Given the description of an element on the screen output the (x, y) to click on. 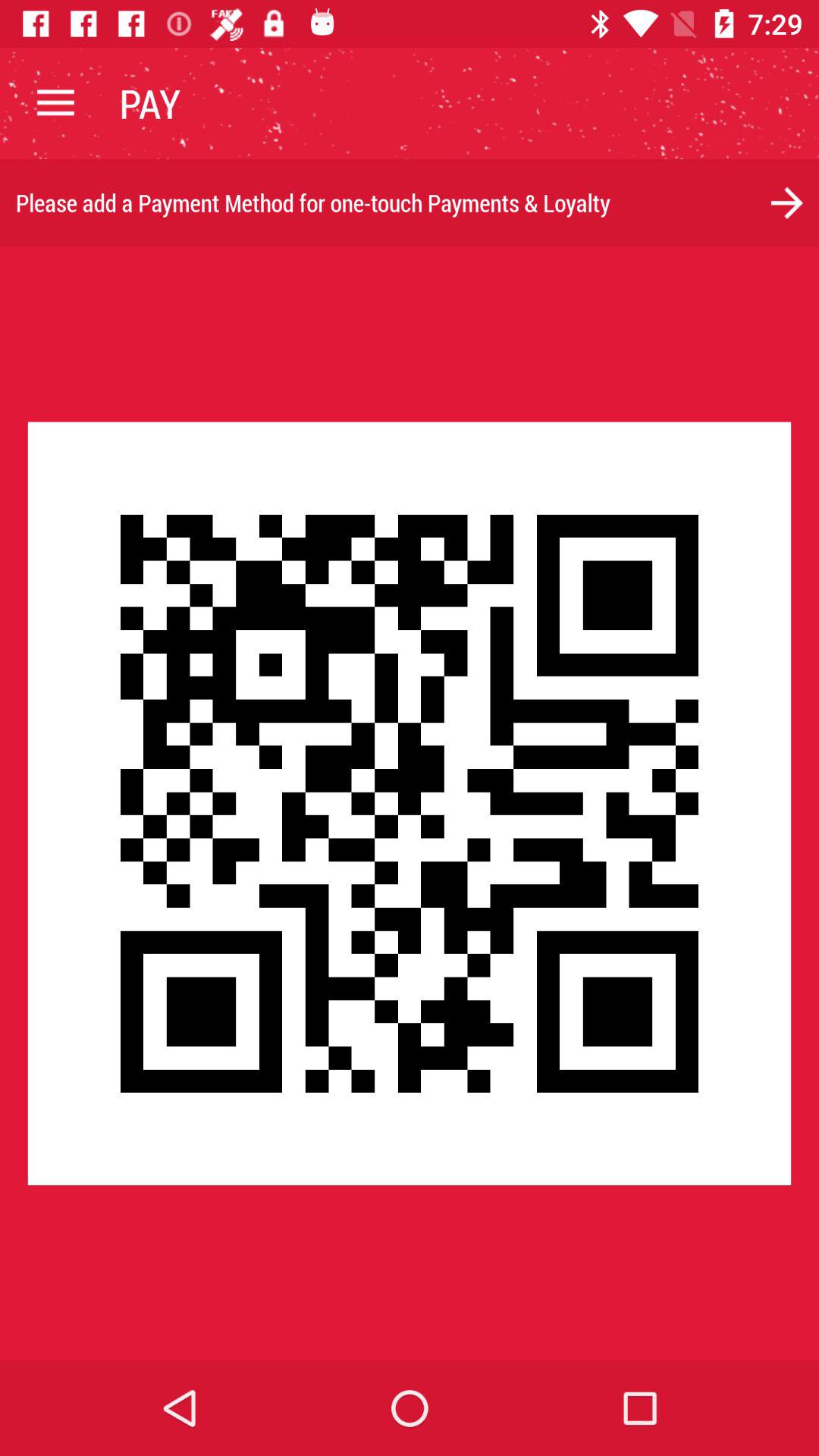
press the icon at the center (409, 803)
